Given the description of an element on the screen output the (x, y) to click on. 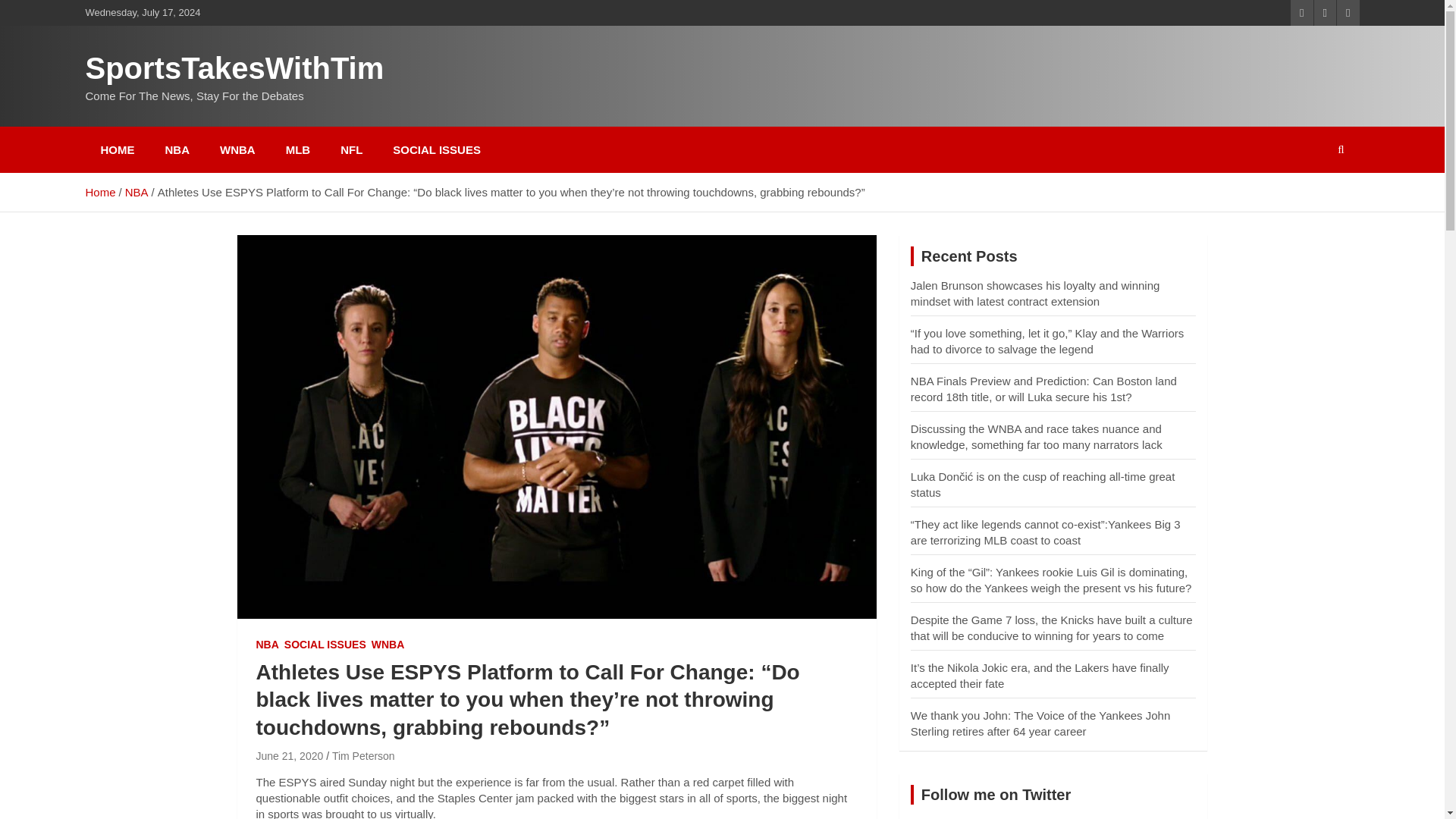
SportsTakesWithTim (234, 68)
June 21, 2020 (289, 756)
Tim Peterson (362, 756)
NFL (350, 149)
NBA (267, 645)
SOCIAL ISSUES (436, 149)
NBA (136, 192)
NBA (177, 149)
SOCIAL ISSUES (324, 645)
Home (99, 192)
WNBA (387, 645)
WNBA (237, 149)
